Given the description of an element on the screen output the (x, y) to click on. 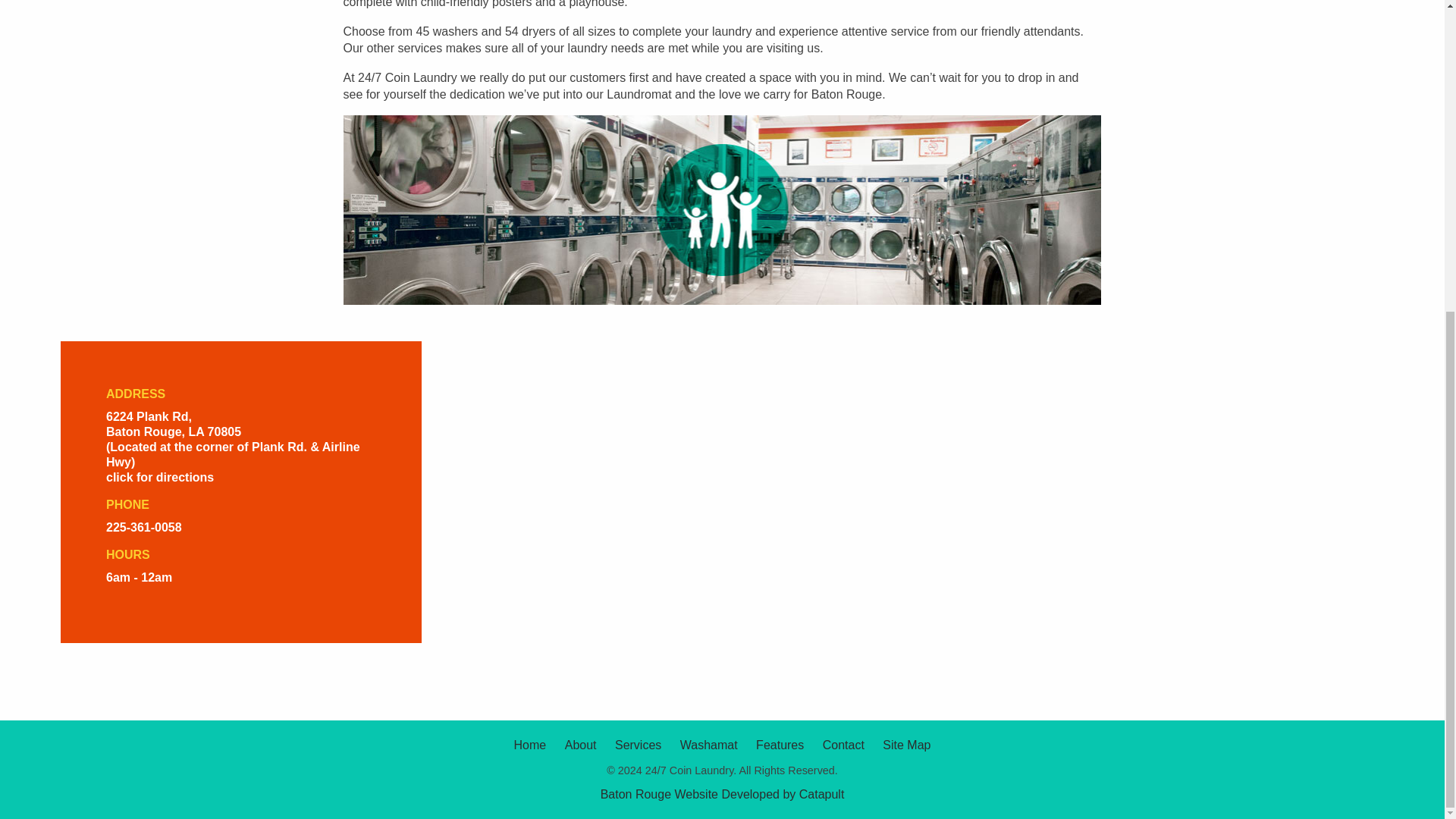
Features (779, 744)
Baton Rouge Website Developed by Catapult (721, 793)
225-361-0058 (144, 526)
ADDRESS (240, 394)
Washamat (708, 744)
About (580, 744)
Services (637, 744)
Home (530, 744)
Contact (843, 744)
Site Map (906, 744)
